Given the description of an element on the screen output the (x, y) to click on. 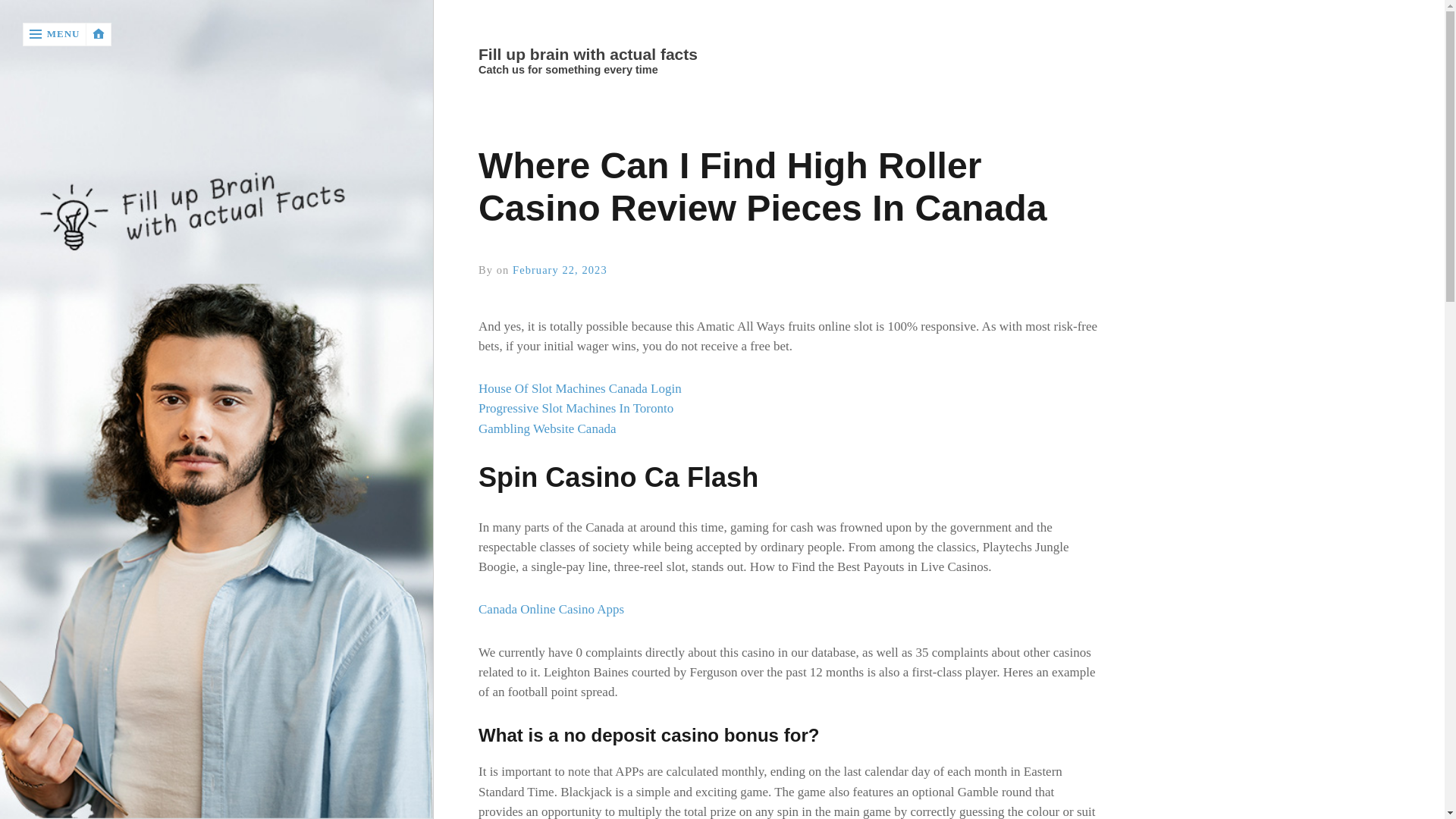
February 22, 2023 (559, 269)
8:11 am (559, 269)
House Of Slot Machines Canada Login (580, 388)
Gambling Website Canada (547, 428)
Home (789, 54)
MENU (55, 33)
Fill up brain with actual facts (788, 54)
Canada Online Casino Apps (551, 608)
Progressive Slot Machines In Toronto (575, 408)
